Given the description of an element on the screen output the (x, y) to click on. 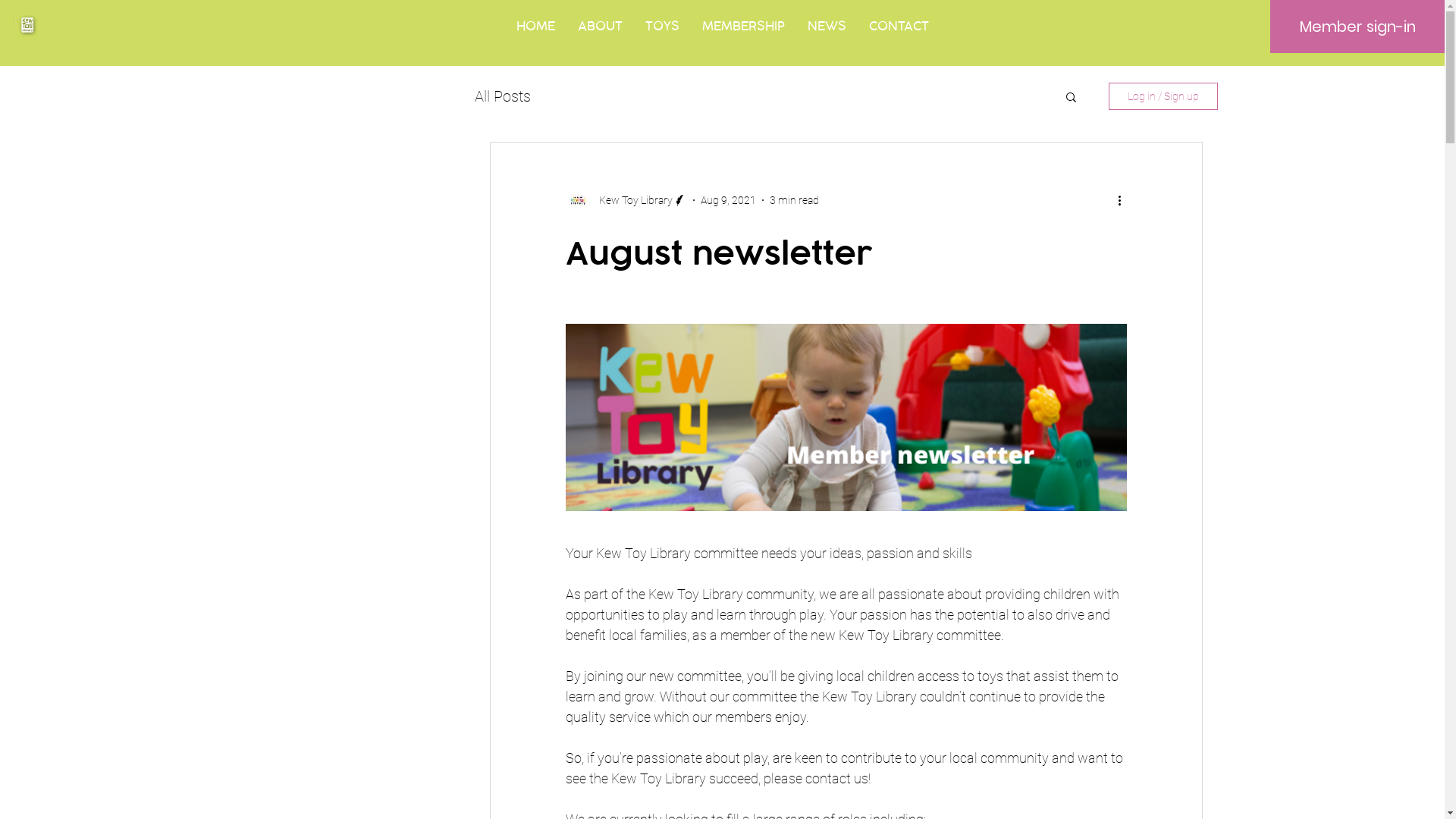
HOME Element type: text (535, 26)
All Posts Element type: text (502, 96)
Member sign-in Element type: text (1357, 26)
Log in / Sign up Element type: text (1162, 95)
